Given the description of an element on the screen output the (x, y) to click on. 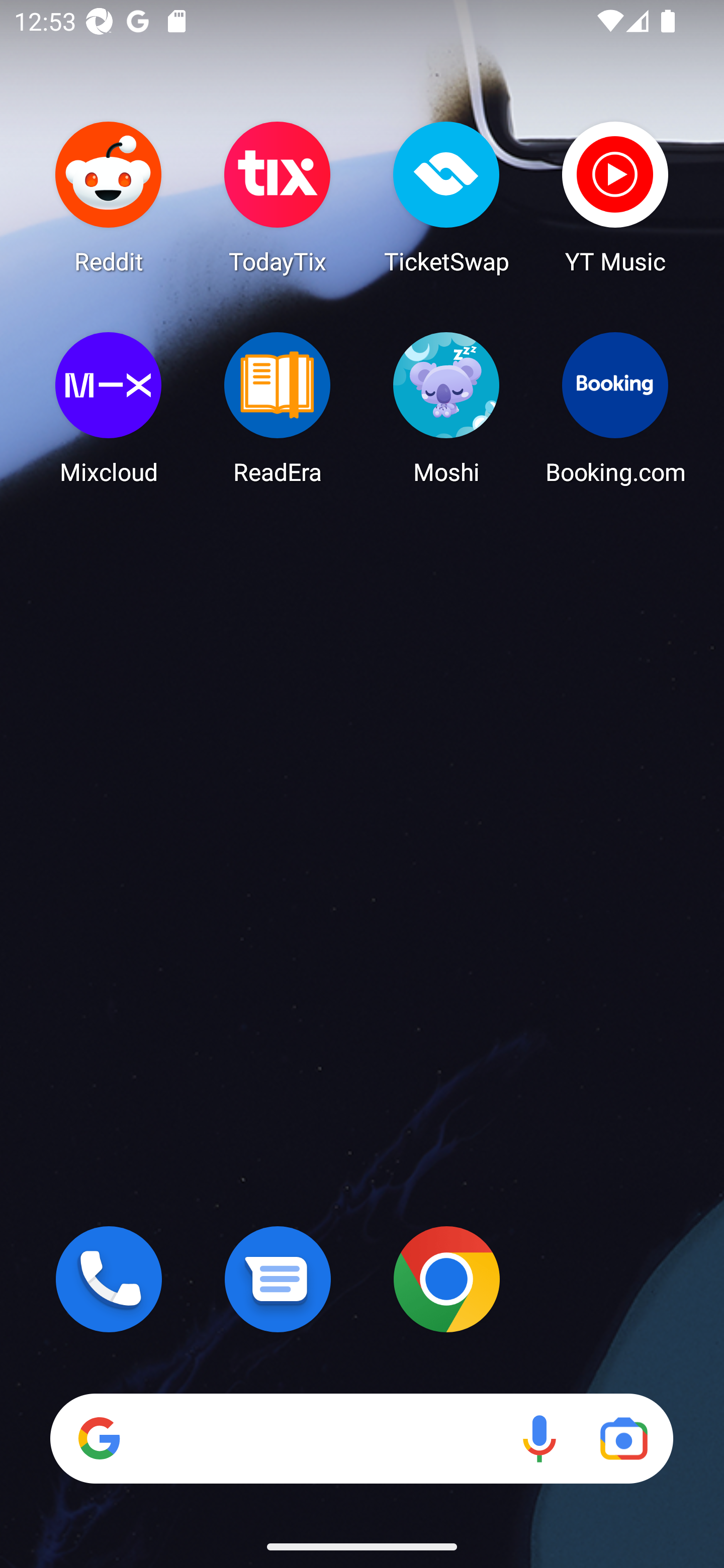
Reddit (108, 196)
TodayTix (277, 196)
TicketSwap (445, 196)
YT Music (615, 196)
Mixcloud (108, 407)
ReadEra (277, 407)
Moshi (445, 407)
Booking.com (615, 407)
Phone (108, 1279)
Messages (277, 1279)
Chrome (446, 1279)
Search Voice search Google Lens (361, 1438)
Voice search (539, 1438)
Google Lens (623, 1438)
